Given the description of an element on the screen output the (x, y) to click on. 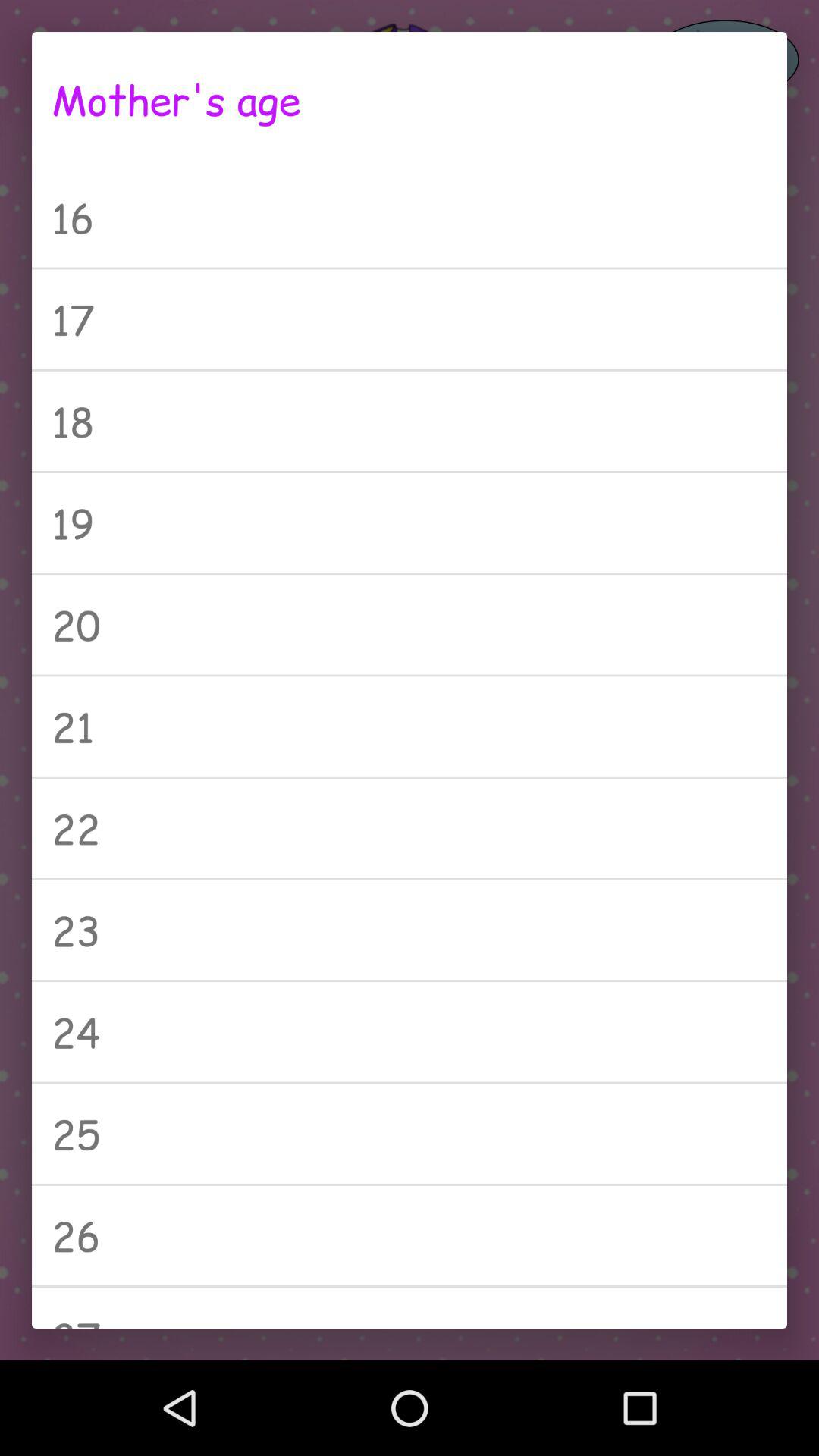
turn on the 24 item (409, 1031)
